Given the description of an element on the screen output the (x, y) to click on. 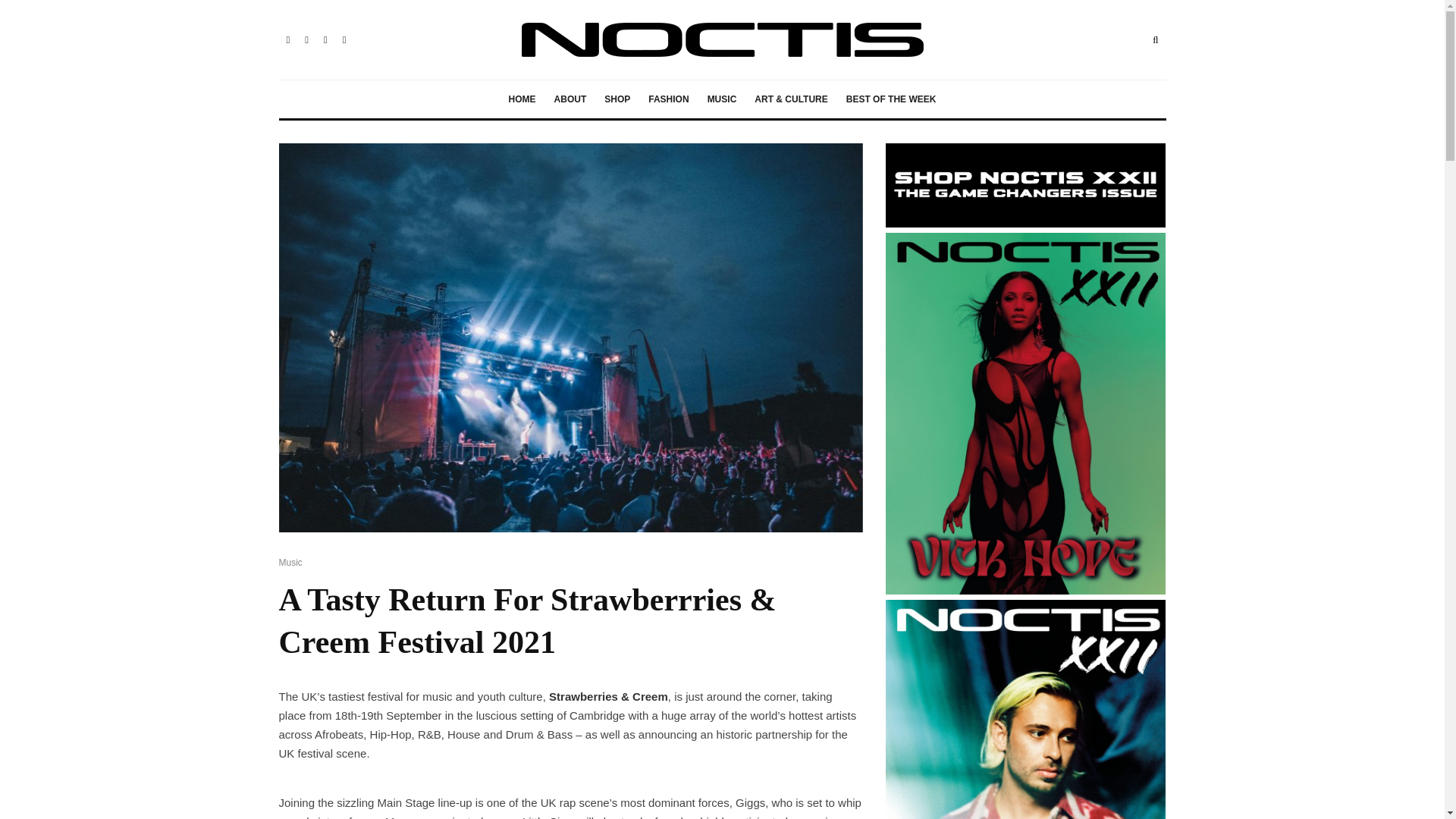
HOME (521, 98)
